Given the description of an element on the screen output the (x, y) to click on. 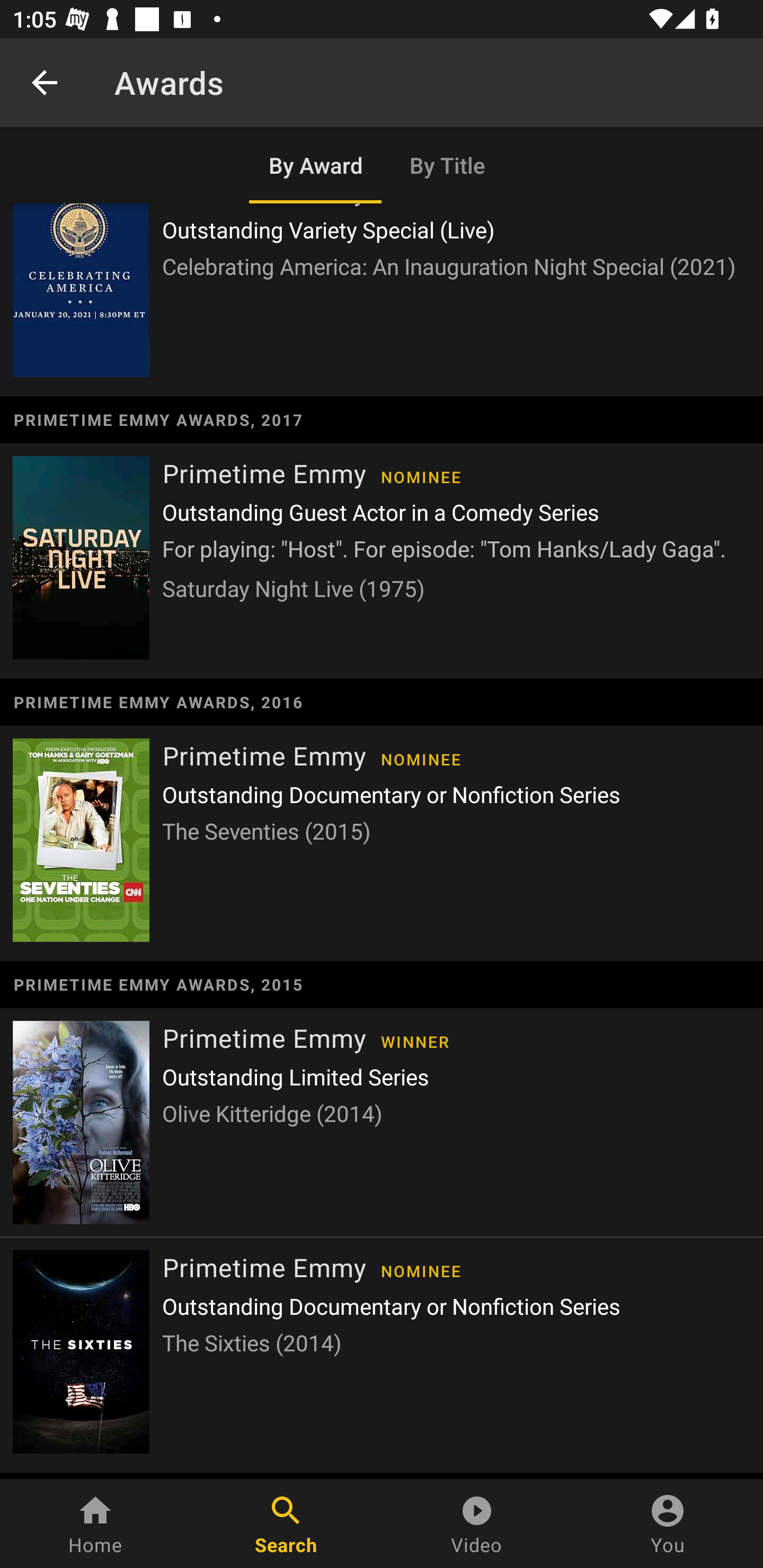
By Title (447, 165)
Home (95, 1523)
Video (476, 1523)
You (667, 1523)
